Given the description of an element on the screen output the (x, y) to click on. 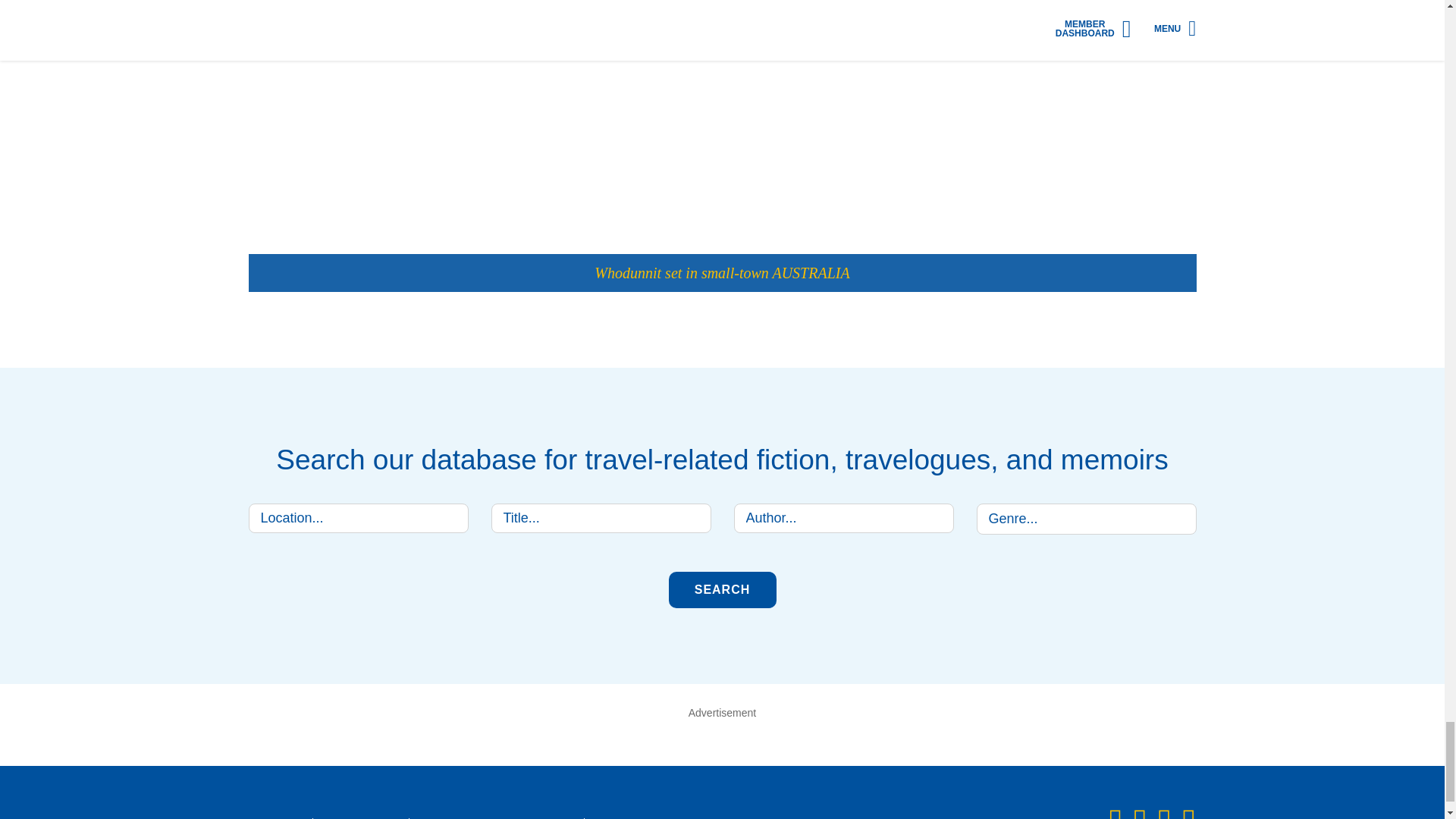
Title... (601, 518)
Location... (358, 518)
Title... (601, 518)
Location... (358, 518)
Author... (843, 518)
Search (722, 589)
Author... (843, 518)
Search (722, 589)
